Given the description of an element on the screen output the (x, y) to click on. 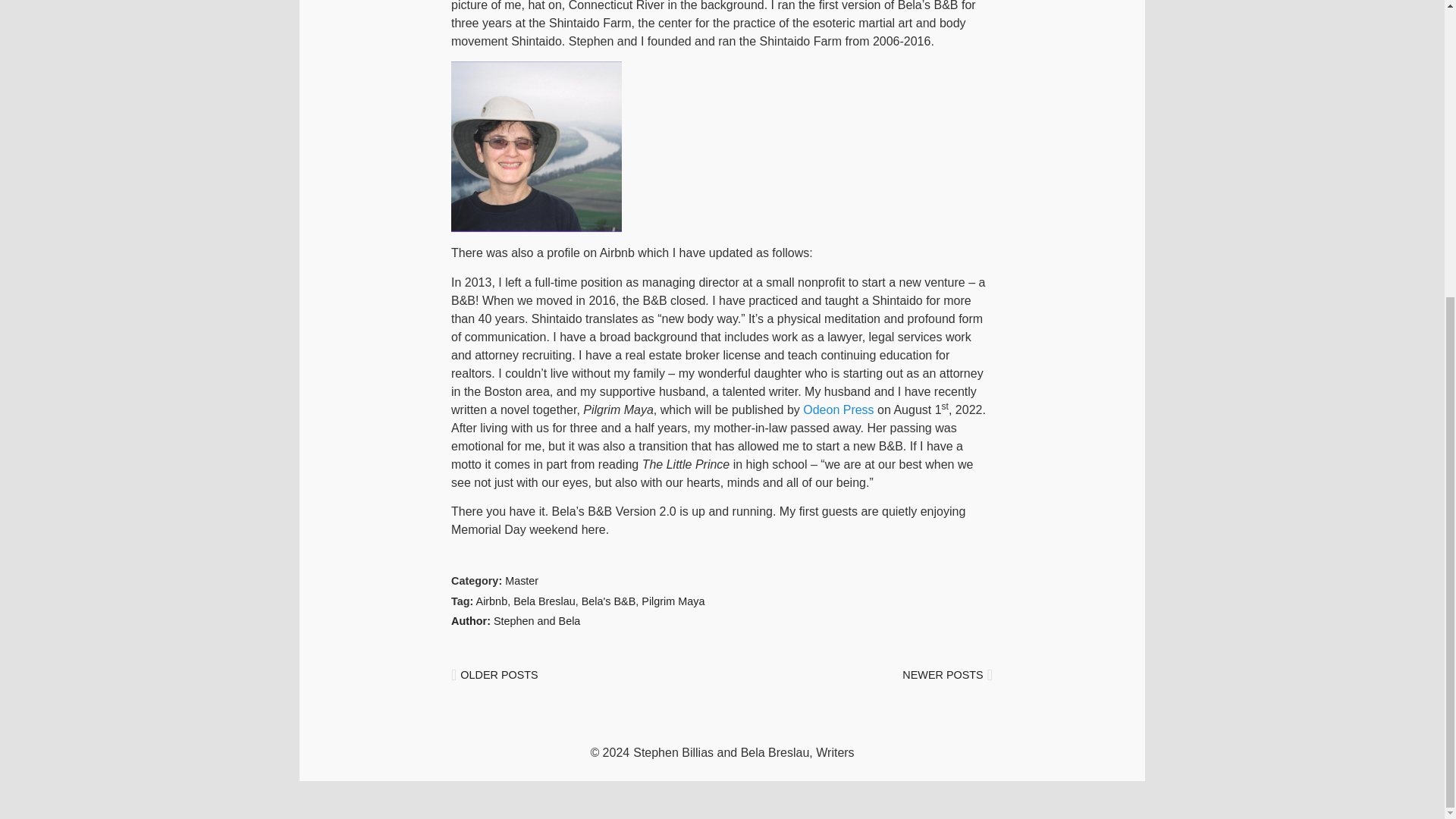
Bela Breslau (544, 601)
Airbnb (492, 601)
Odeon Press (838, 409)
Master (521, 580)
